Given the description of an element on the screen output the (x, y) to click on. 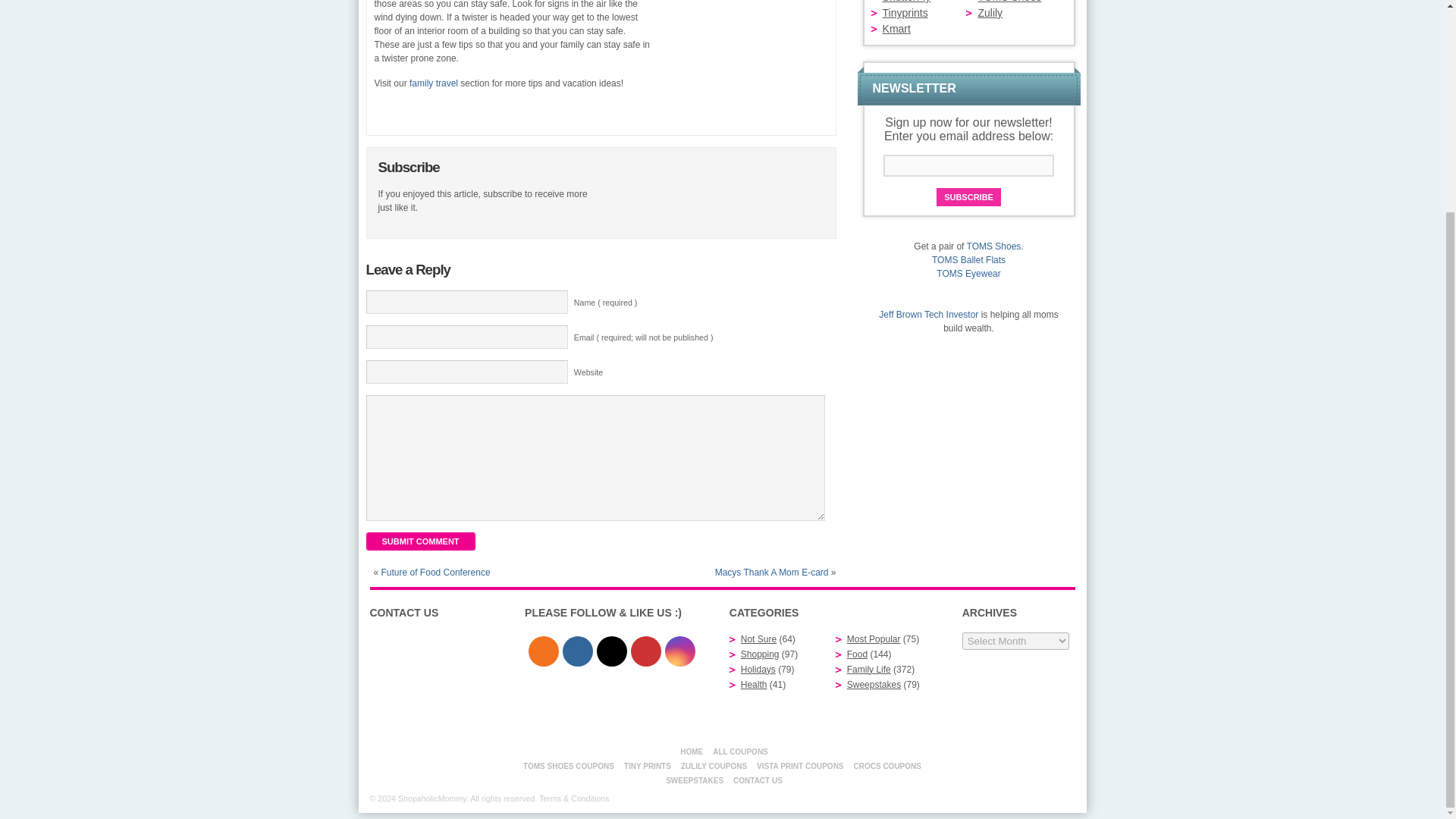
Submit Comment (419, 541)
family travel (433, 82)
Macys Thank A Mom E-card (771, 572)
Future of Food Conference (435, 572)
Submit Comment (419, 541)
